Given the description of an element on the screen output the (x, y) to click on. 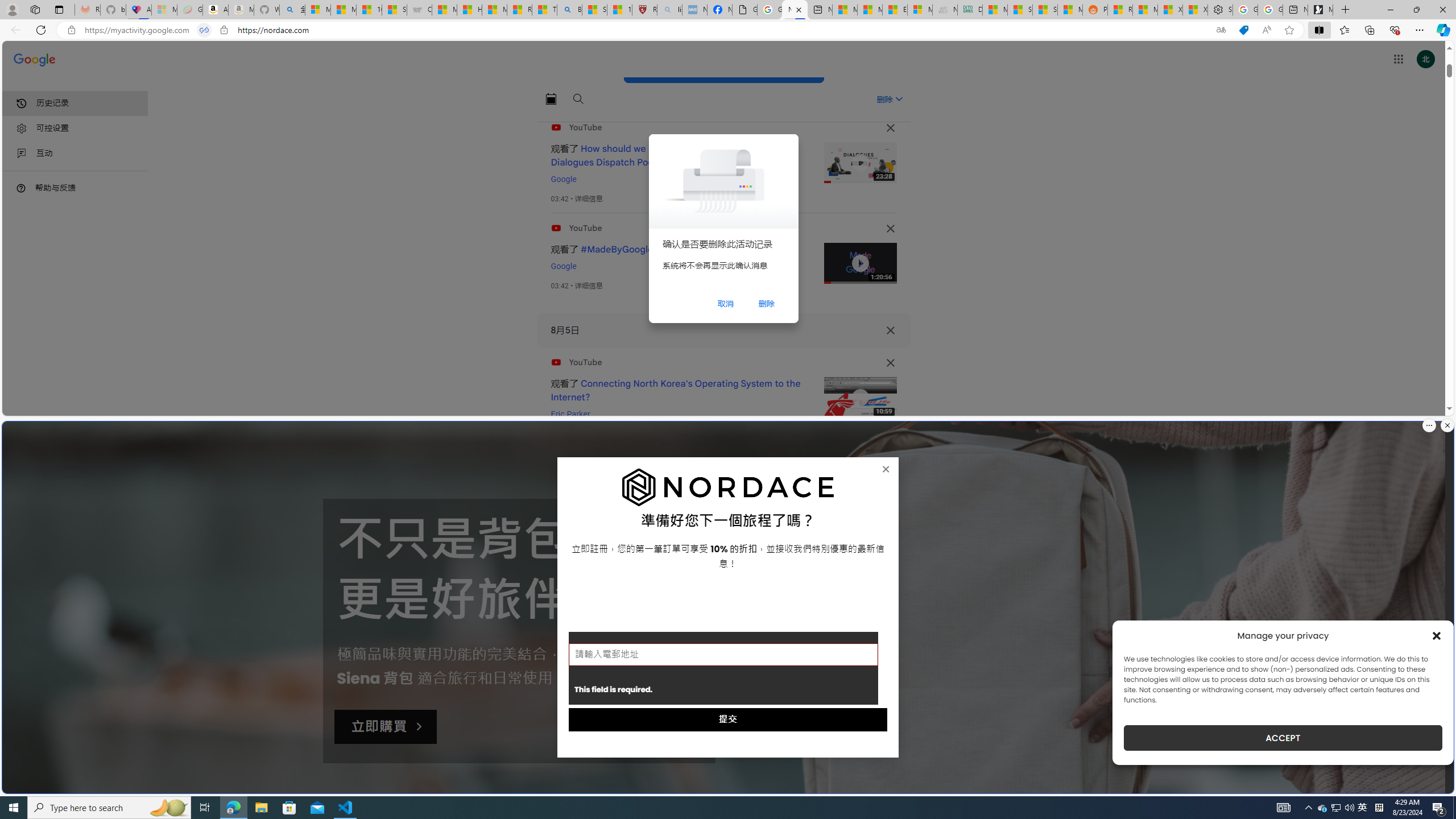
Connecting North Korea's Operating System to the Internet? (675, 390)
